Given the description of an element on the screen output the (x, y) to click on. 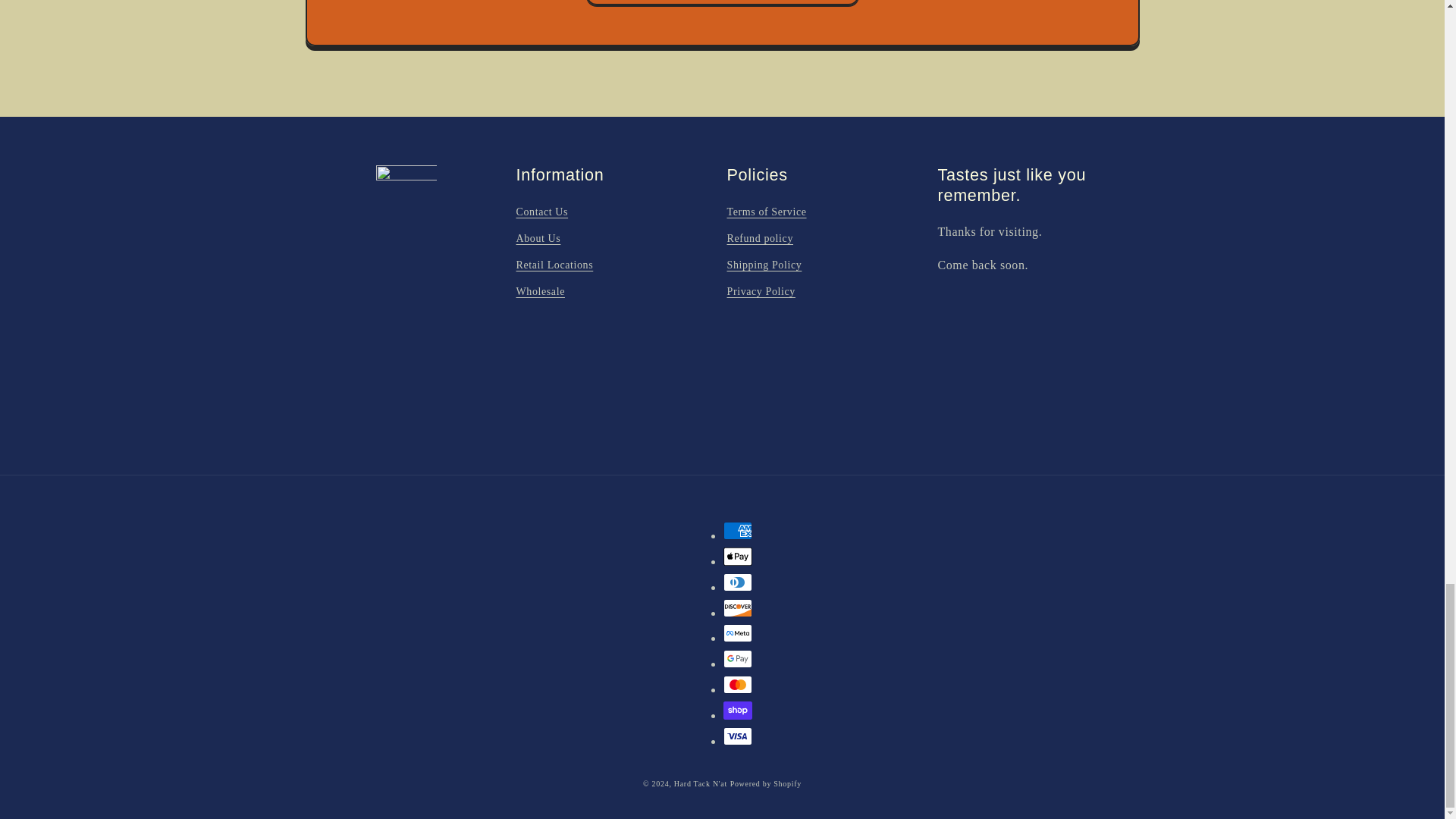
Apple Pay (737, 556)
American Express (737, 530)
Discover (737, 607)
Meta Pay (737, 633)
Diners Club (737, 582)
